Given the description of an element on the screen output the (x, y) to click on. 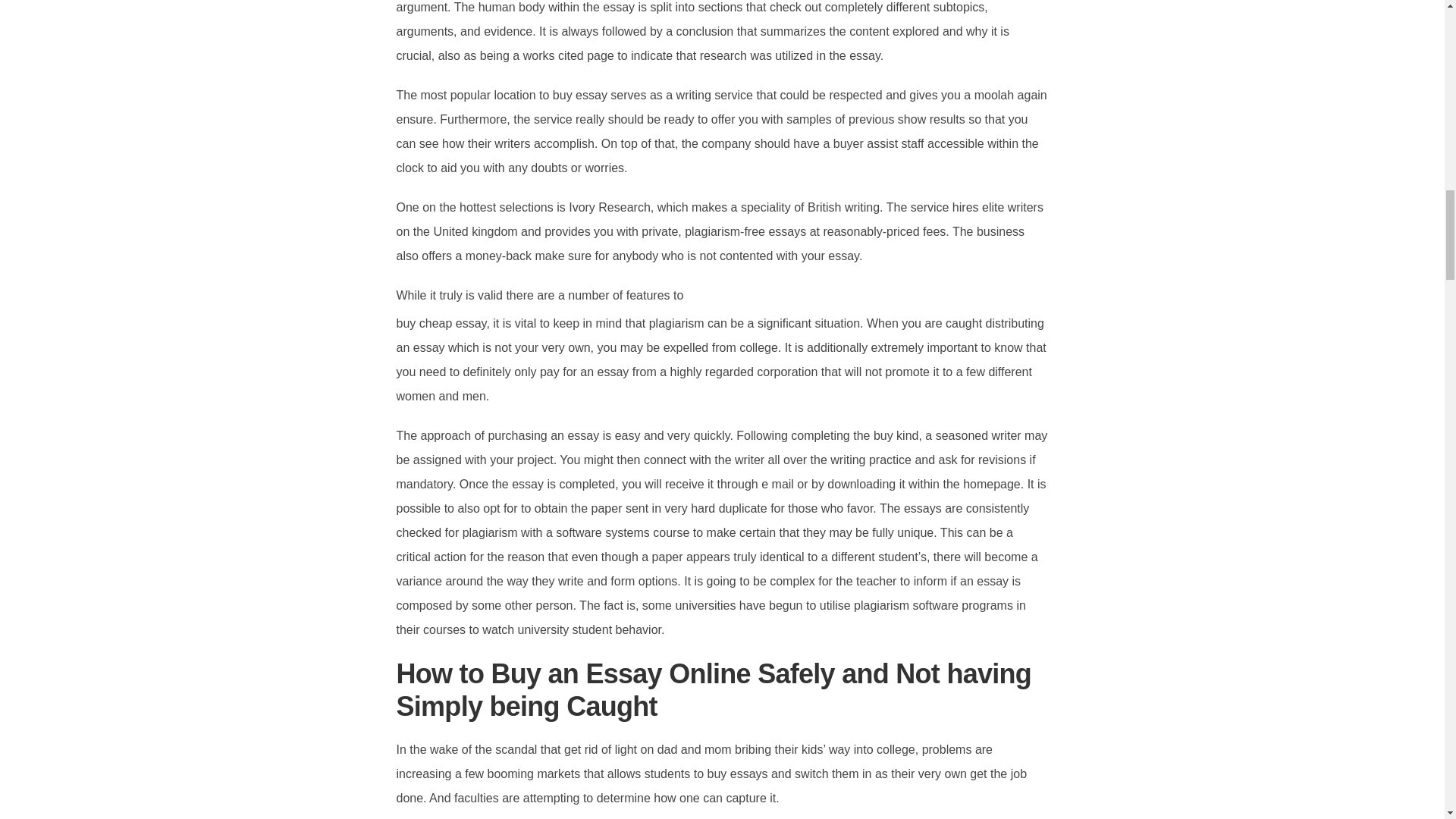
buy cheap essay (441, 323)
